Given the description of an element on the screen output the (x, y) to click on. 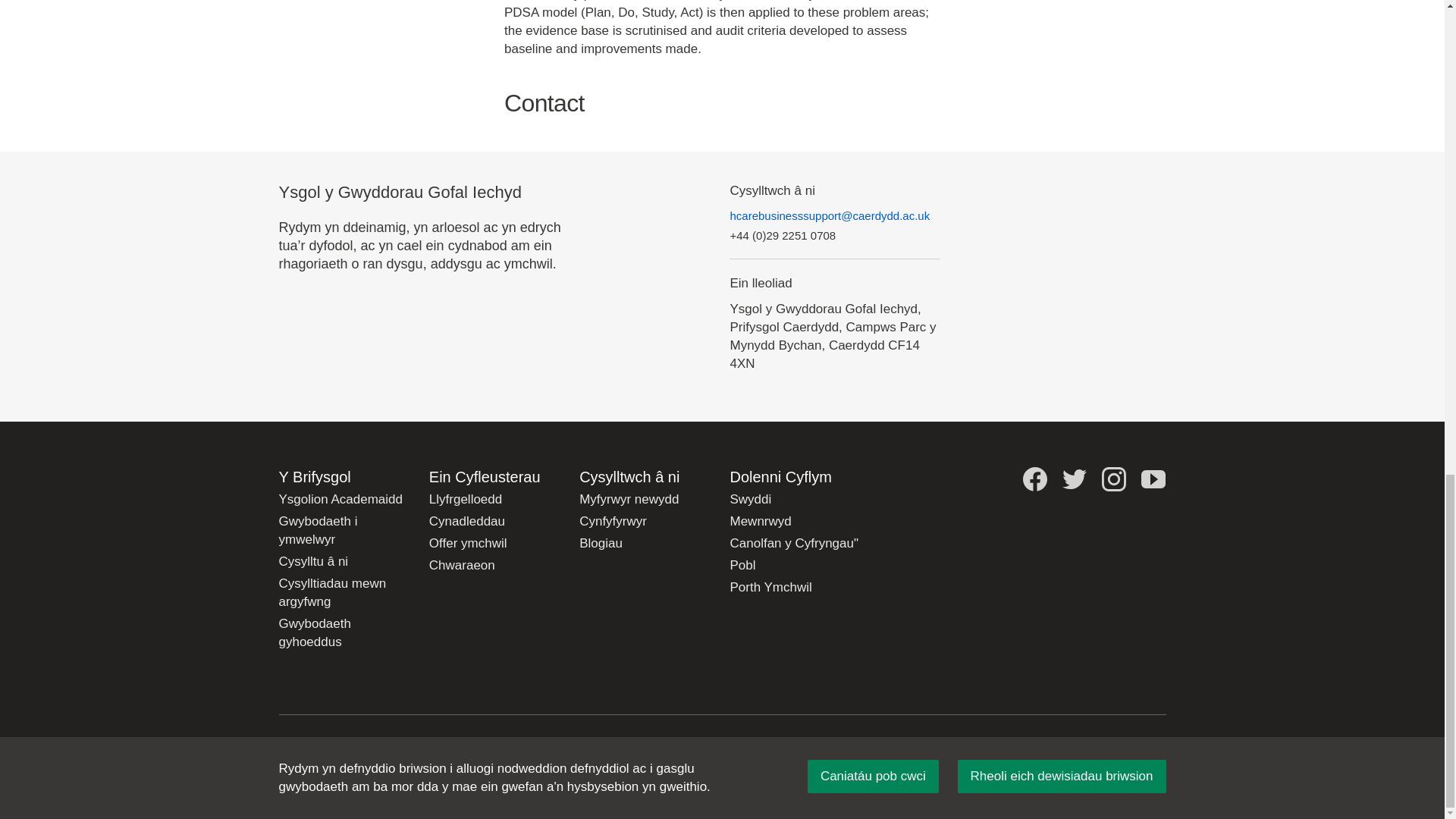
twitter no background icon (1074, 478)
facebook (1034, 478)
Youtube (1153, 478)
instagram (1113, 478)
